Given the description of an element on the screen output the (x, y) to click on. 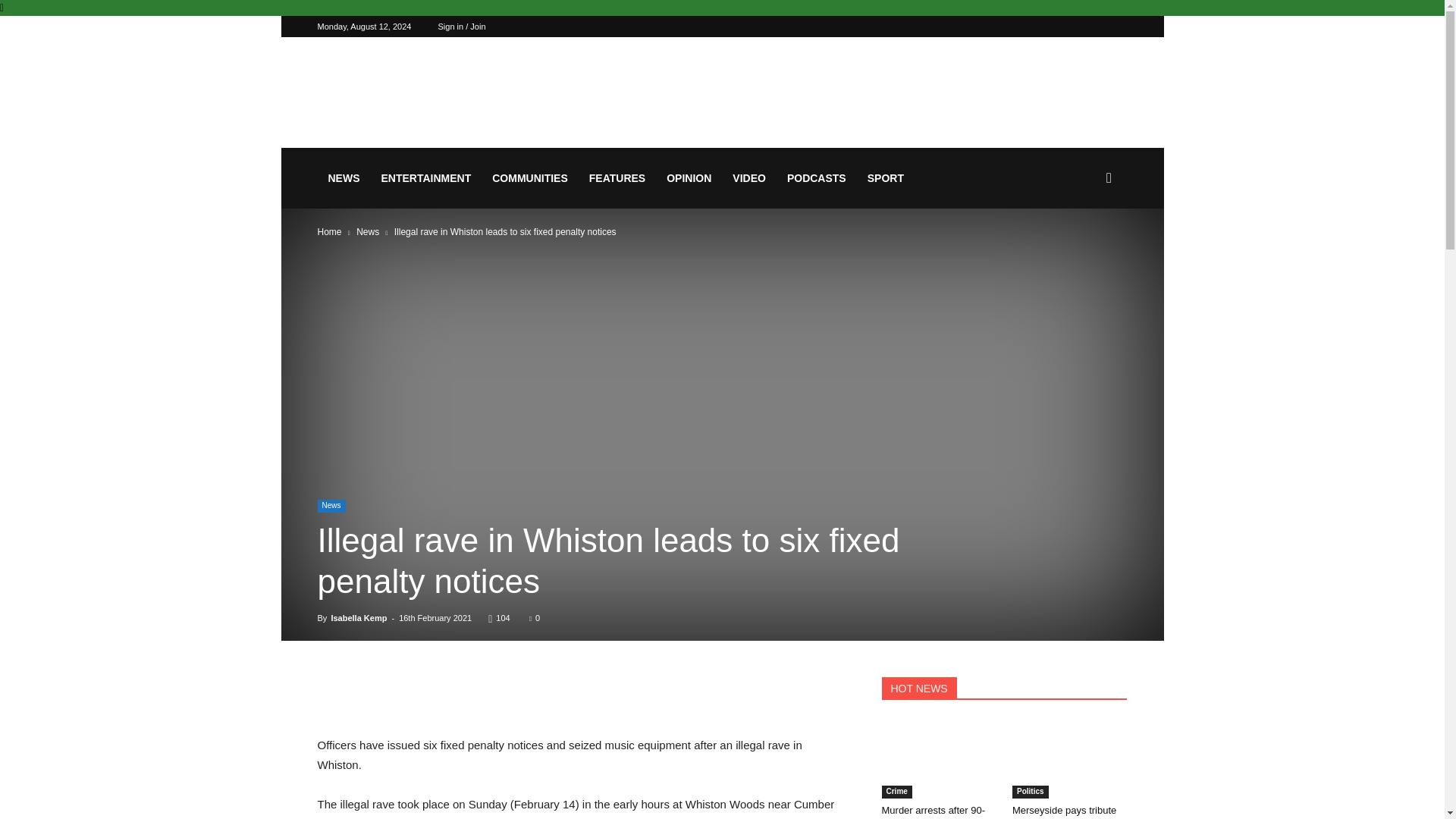
COMMUNITIES (529, 178)
ENTERTAINMENT (425, 178)
View all posts in News (367, 231)
